Given the description of an element on the screen output the (x, y) to click on. 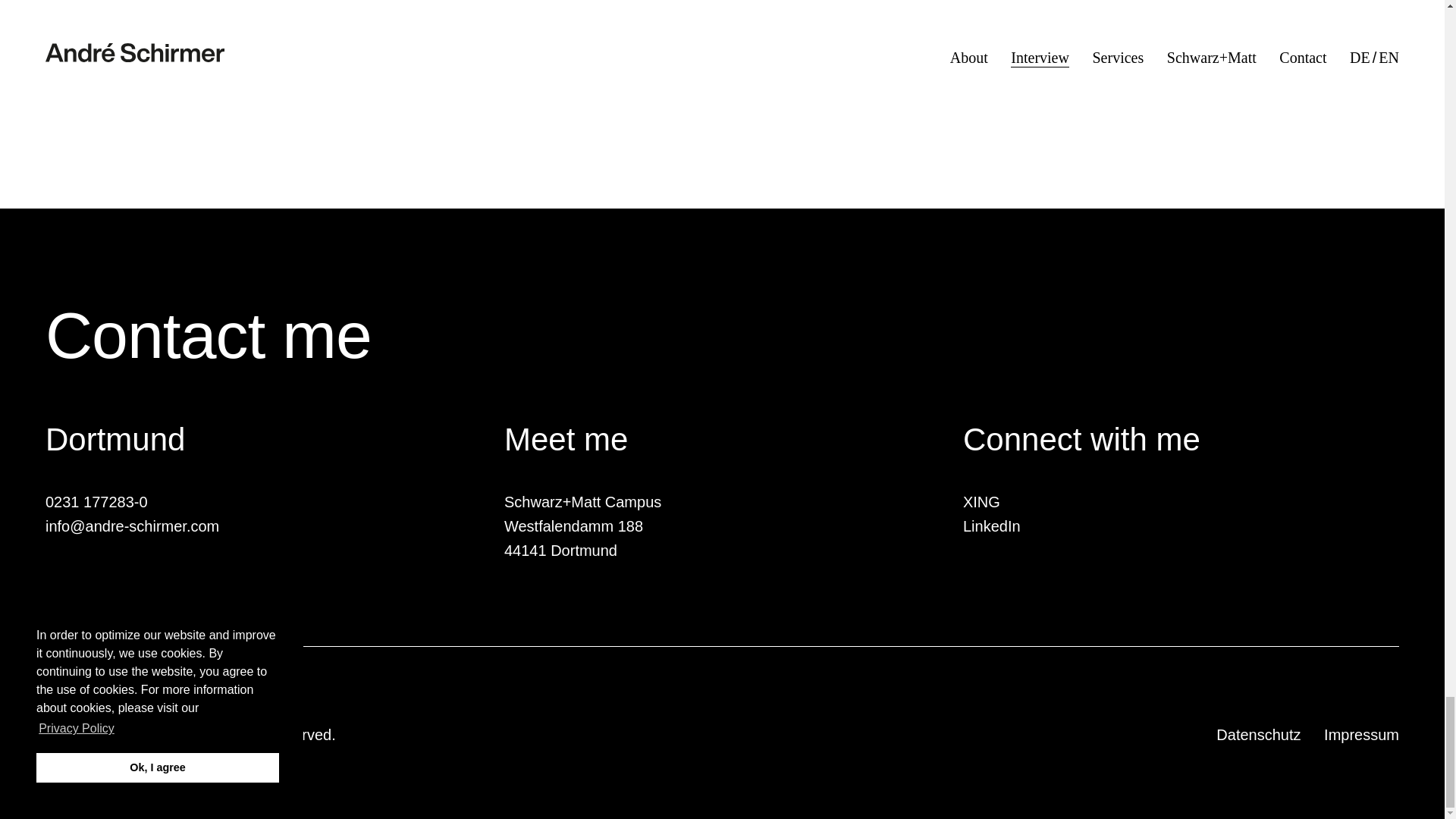
Impressum (1361, 734)
Datenschutz (1257, 734)
LinkedIn (991, 526)
Datenschutz (1257, 734)
XING (981, 501)
0231 177283-0 (96, 501)
Impressum (1361, 734)
Linked In (991, 526)
Xing (981, 501)
